Given the description of an element on the screen output the (x, y) to click on. 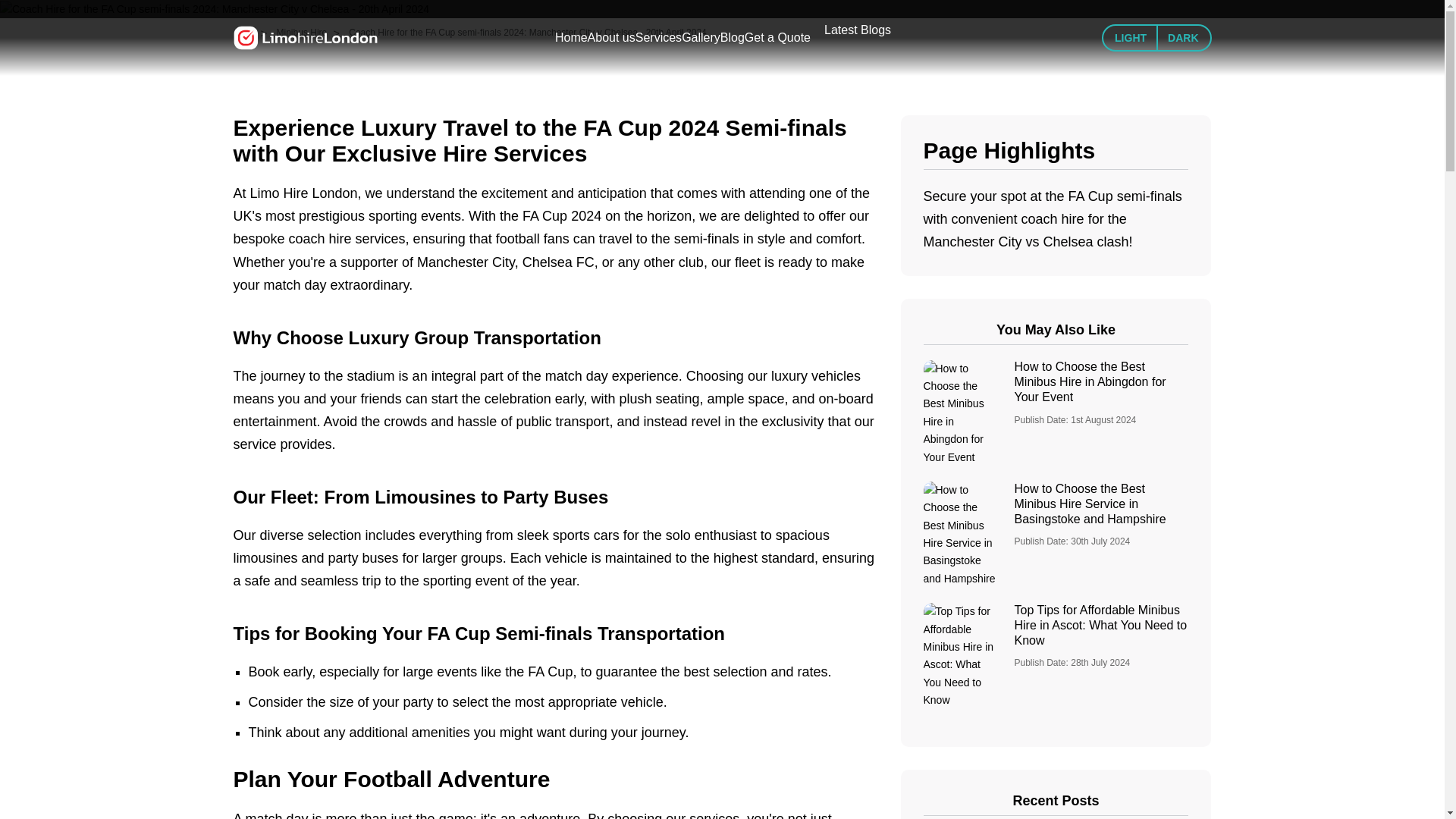
Latest Blogs (857, 30)
Get a Quote (777, 37)
Limo Hire London (304, 37)
Get a Quote (777, 37)
Latest Blogs (857, 30)
